Given the description of an element on the screen output the (x, y) to click on. 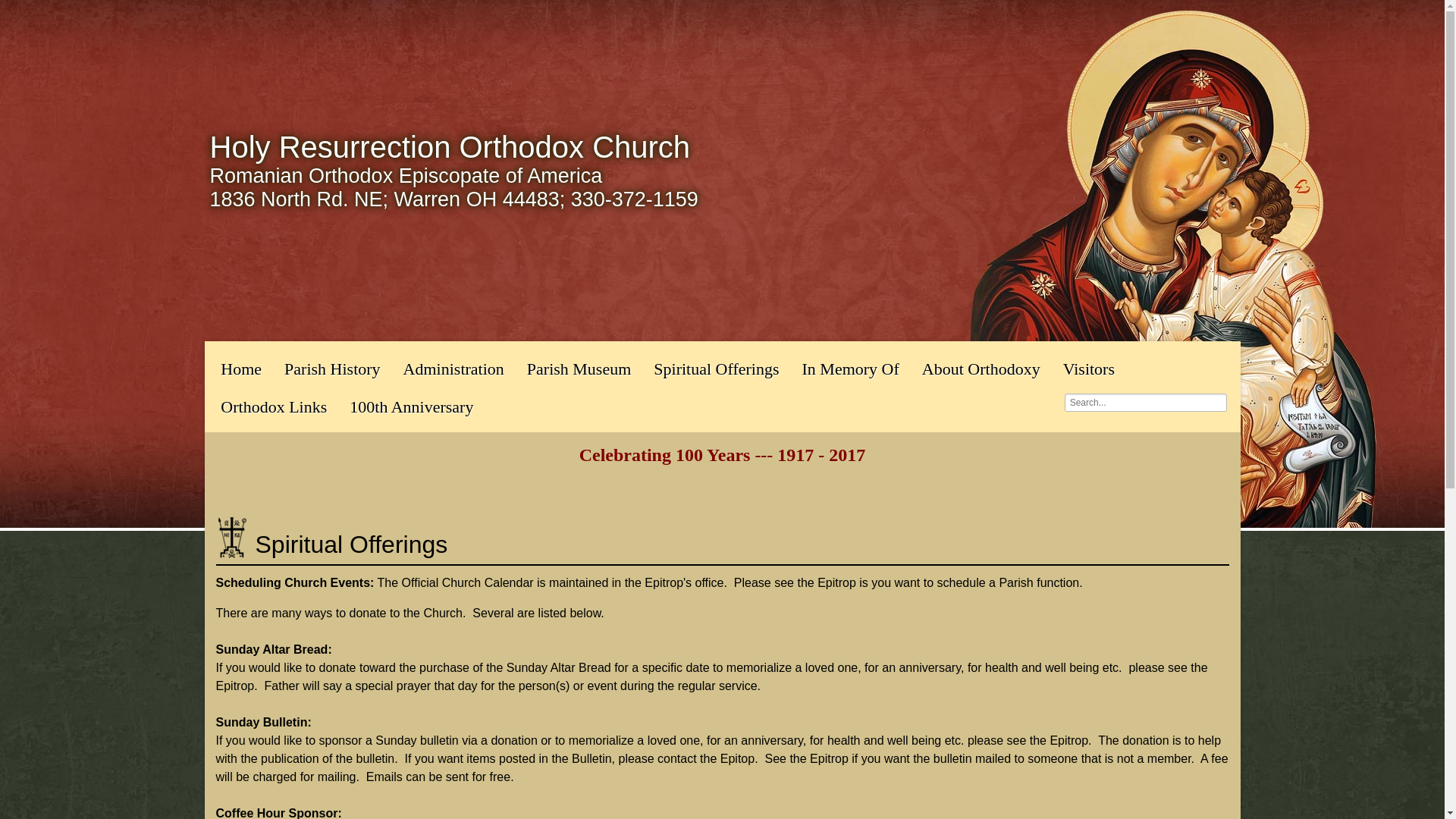
About Orthodoxy (981, 367)
Parish Museum (579, 367)
Spiritual Offerings (716, 367)
Administration (453, 367)
Visitors (1088, 367)
Parish History (332, 367)
Home (241, 367)
In Memory Of (850, 367)
100th Anniversary (410, 405)
Orthodox Links (273, 405)
